Given the description of an element on the screen output the (x, y) to click on. 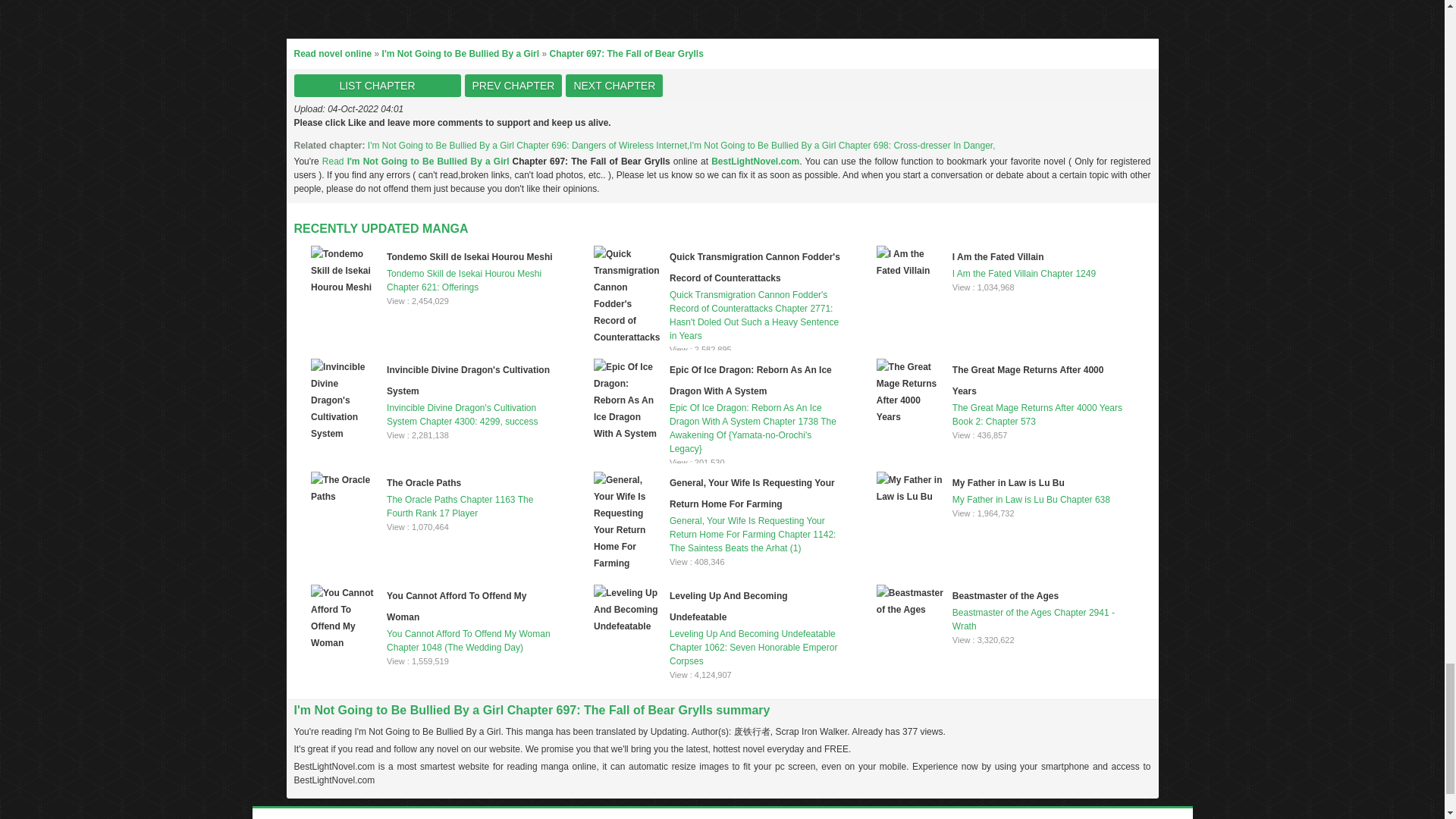
Read novel online (333, 53)
PREV CHAPTER (513, 85)
I Am the Fated Villain Chapter 1249 (1000, 262)
Read I'm Not Going to Be Bullied By a Girl (416, 161)
Read I'm Not Going to Be Bullied By a Girl novel (416, 161)
NEXT CHAPTER (614, 85)
Tondemo Skill de Isekai Hourou Meshi Chapter 621: Offerings (435, 269)
Invincible Divine Dragon's Cultivation System (468, 380)
Tondemo Skill de Isekai Hourou Meshi (469, 256)
Tondemo Skill de Isekai Hourou Meshi (469, 256)
I'm Not Going to Be Bullied By a Girl (460, 53)
